Given the description of an element on the screen output the (x, y) to click on. 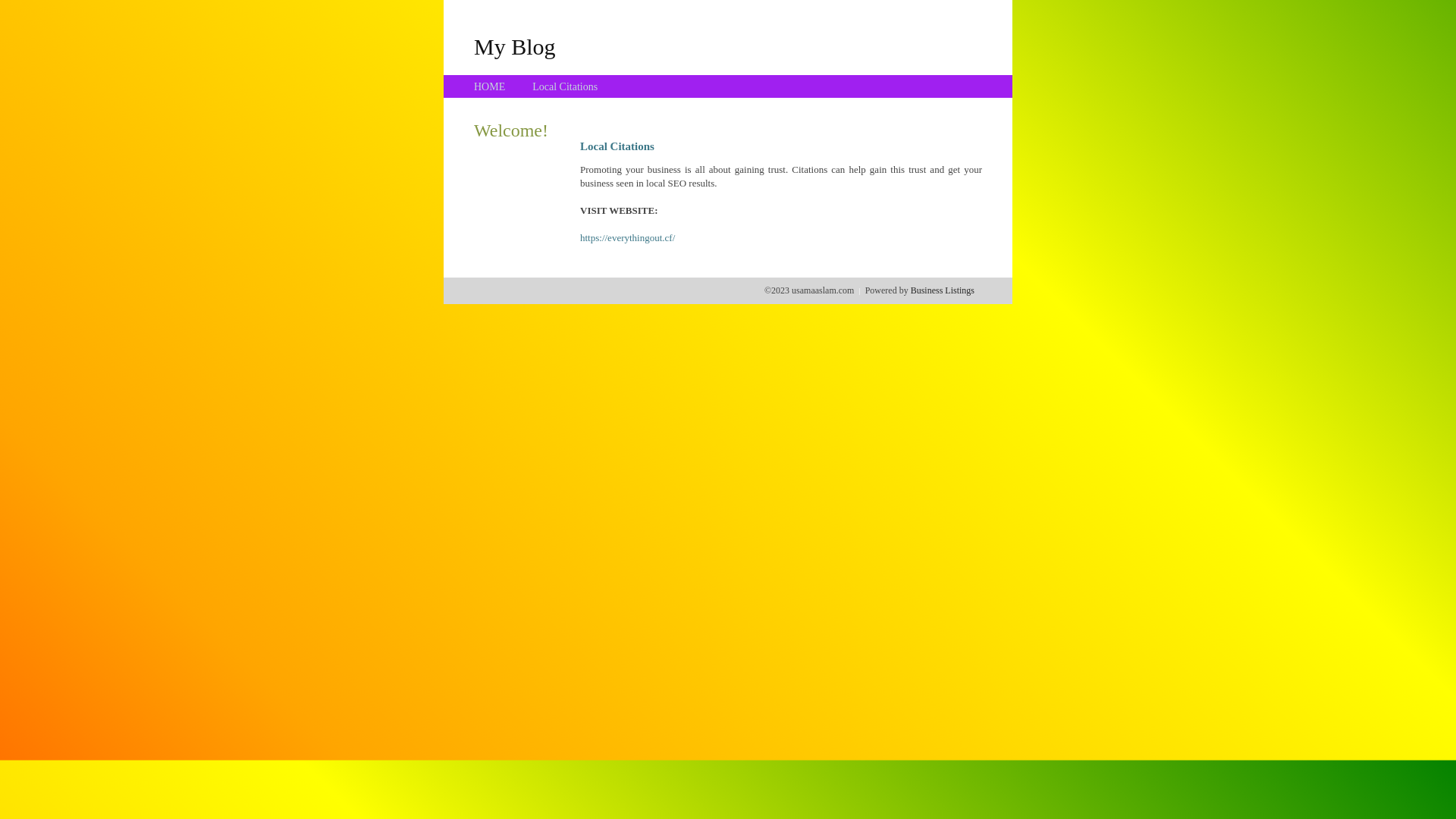
https://everythingout.cf/ Element type: text (627, 237)
My Blog Element type: text (514, 46)
HOME Element type: text (489, 86)
Local Citations Element type: text (564, 86)
Business Listings Element type: text (942, 290)
